Given the description of an element on the screen output the (x, y) to click on. 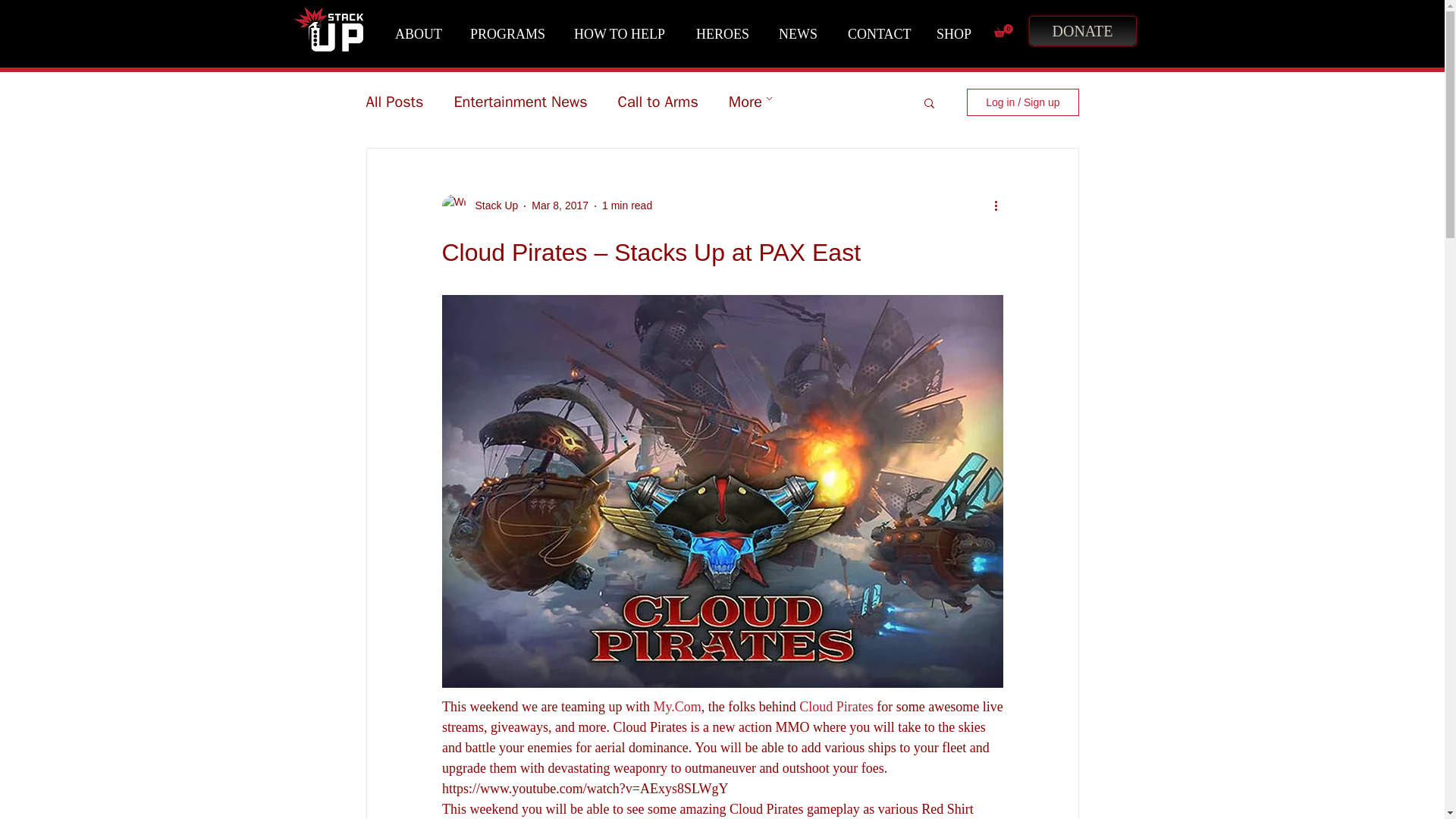
Cloud Pirates (836, 706)
HOW TO HELP (623, 34)
SHOP (957, 34)
CONTACT (879, 34)
0 (1001, 30)
Mar 8, 2017 (559, 205)
DONATE (1081, 30)
Entertainment News (519, 101)
Call to Arms (657, 101)
0 (1001, 30)
My.Com (676, 706)
1 min read (627, 205)
Stack Up (491, 205)
NEWS (801, 34)
All Posts (394, 101)
